Given the description of an element on the screen output the (x, y) to click on. 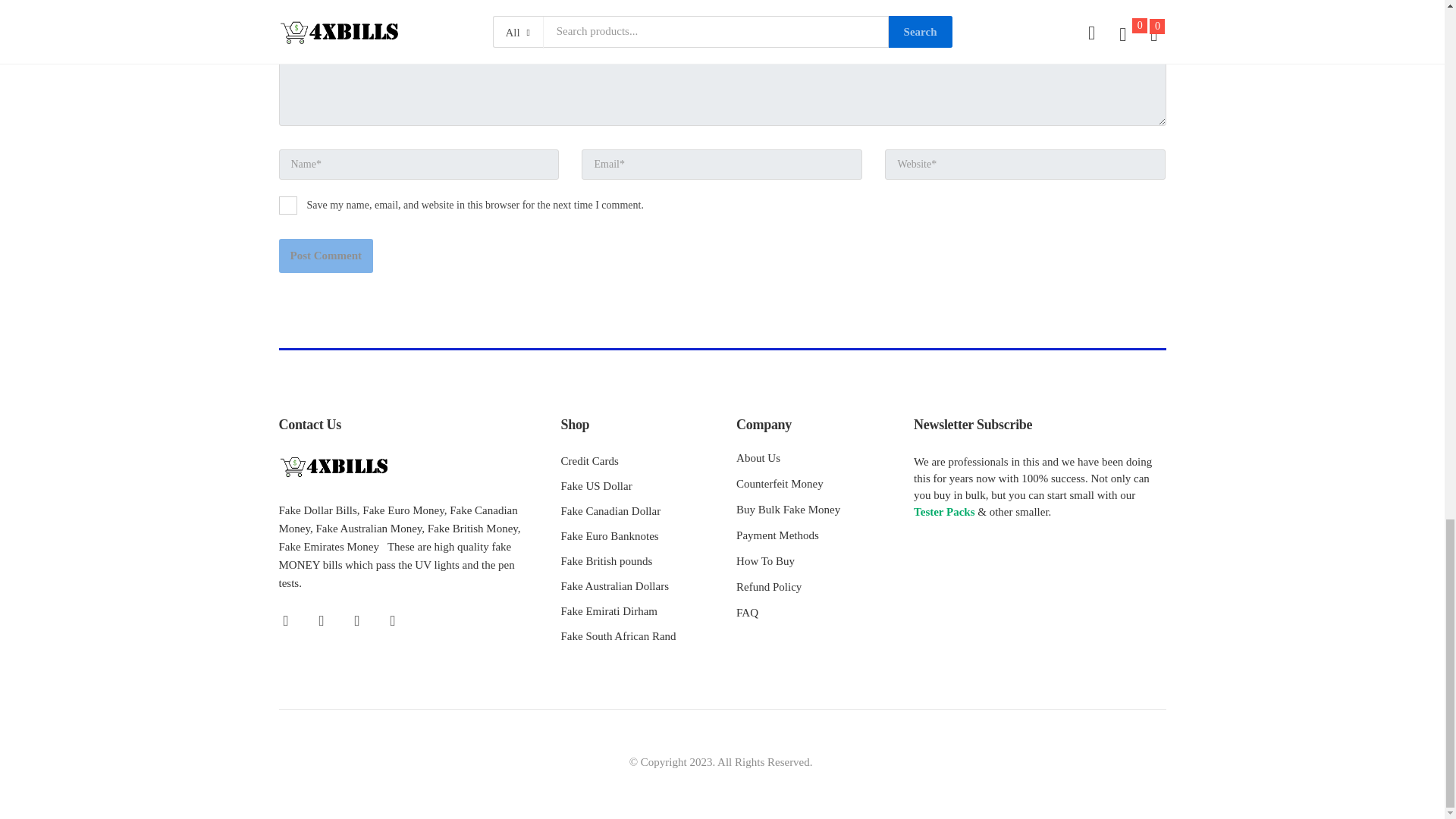
Post Comment (326, 255)
yes (288, 205)
